Given the description of an element on the screen output the (x, y) to click on. 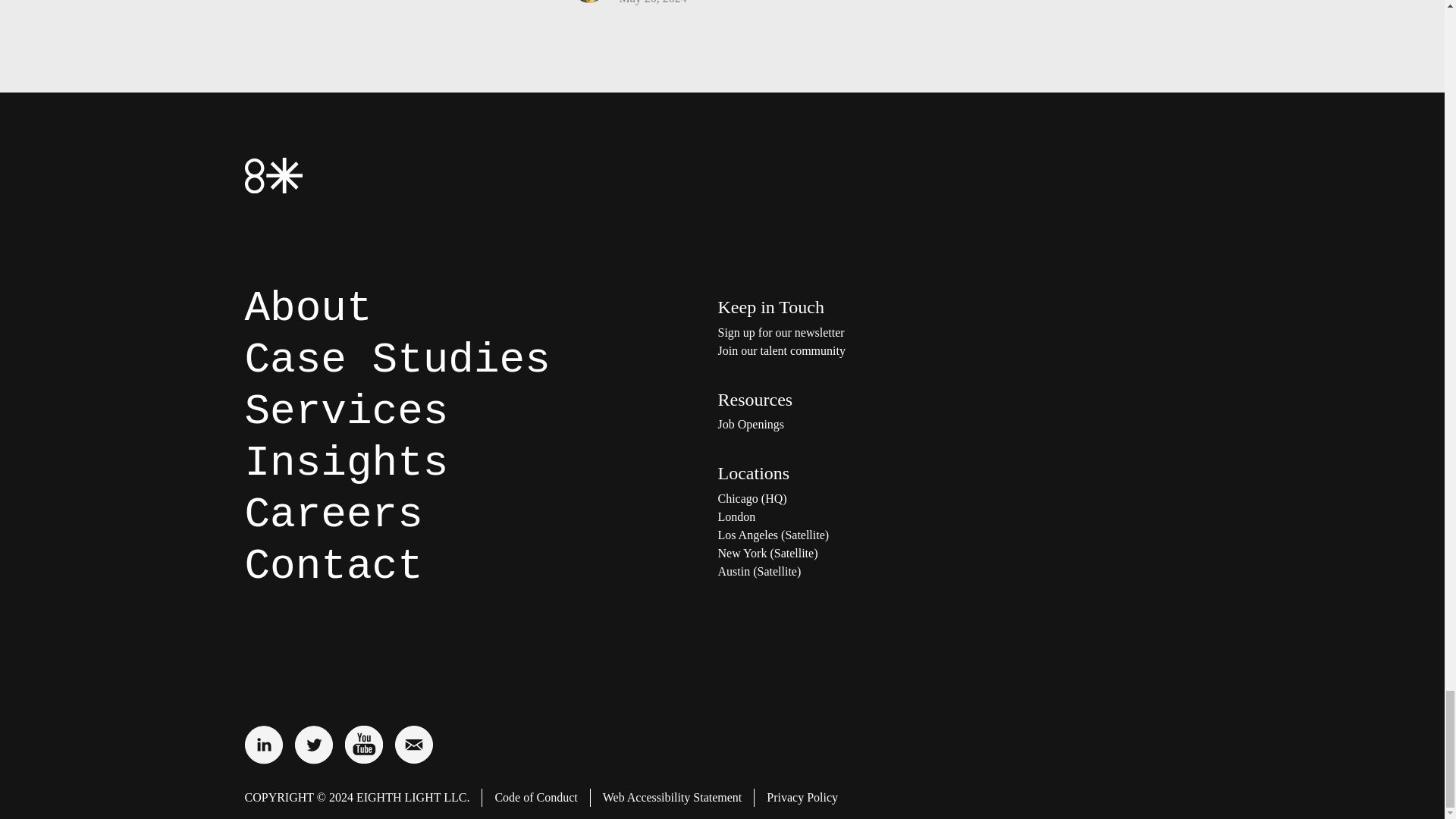
Job Openings (868, 424)
About (307, 308)
Careers (333, 514)
Insights (346, 462)
Contact (333, 566)
Services (346, 411)
Sign up for our newsletter (868, 332)
Join our talent community (868, 351)
Case Studies (397, 359)
